Given the description of an element on the screen output the (x, y) to click on. 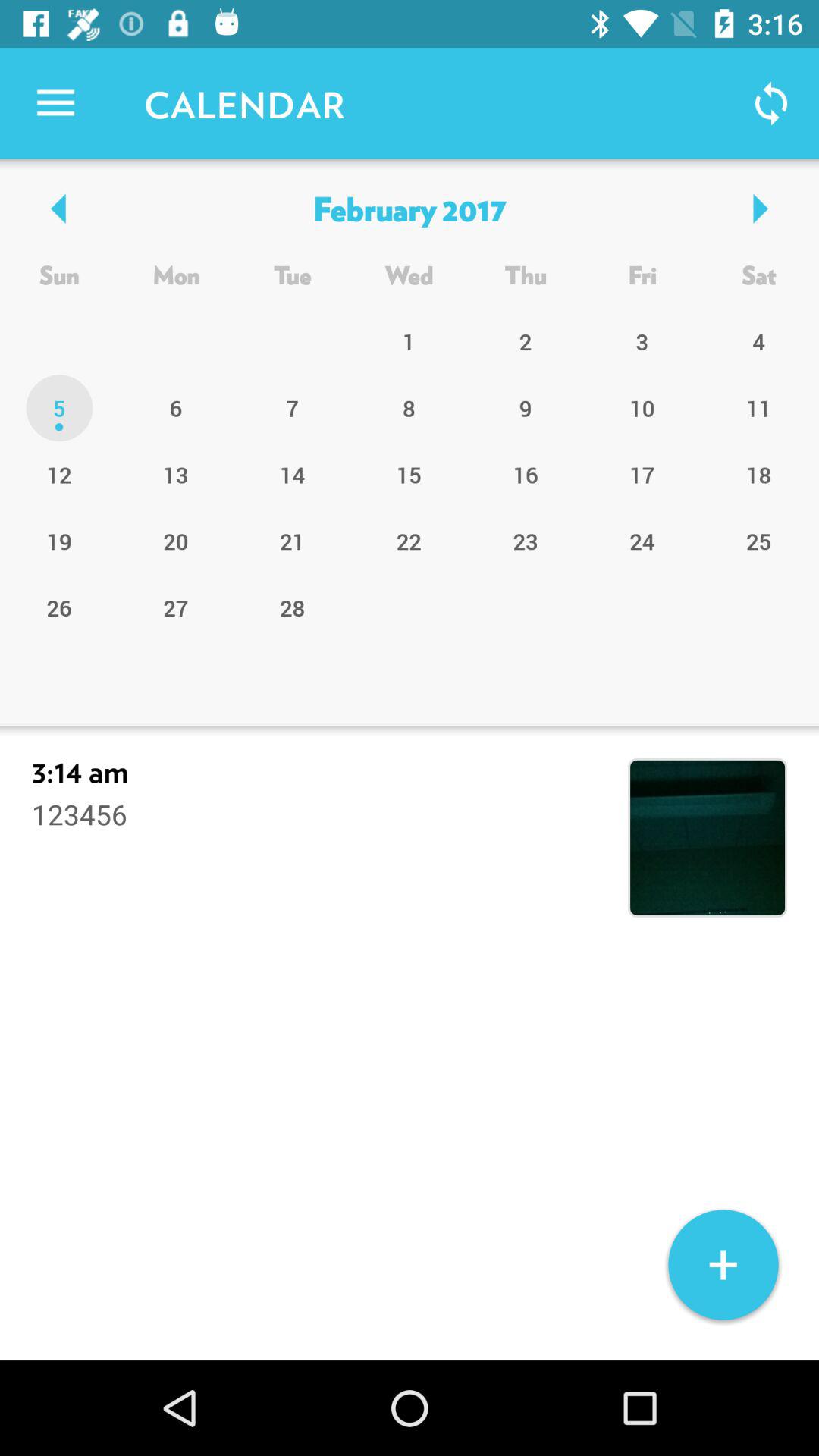
select icon to the right of the 13 (292, 540)
